Given the description of an element on the screen output the (x, y) to click on. 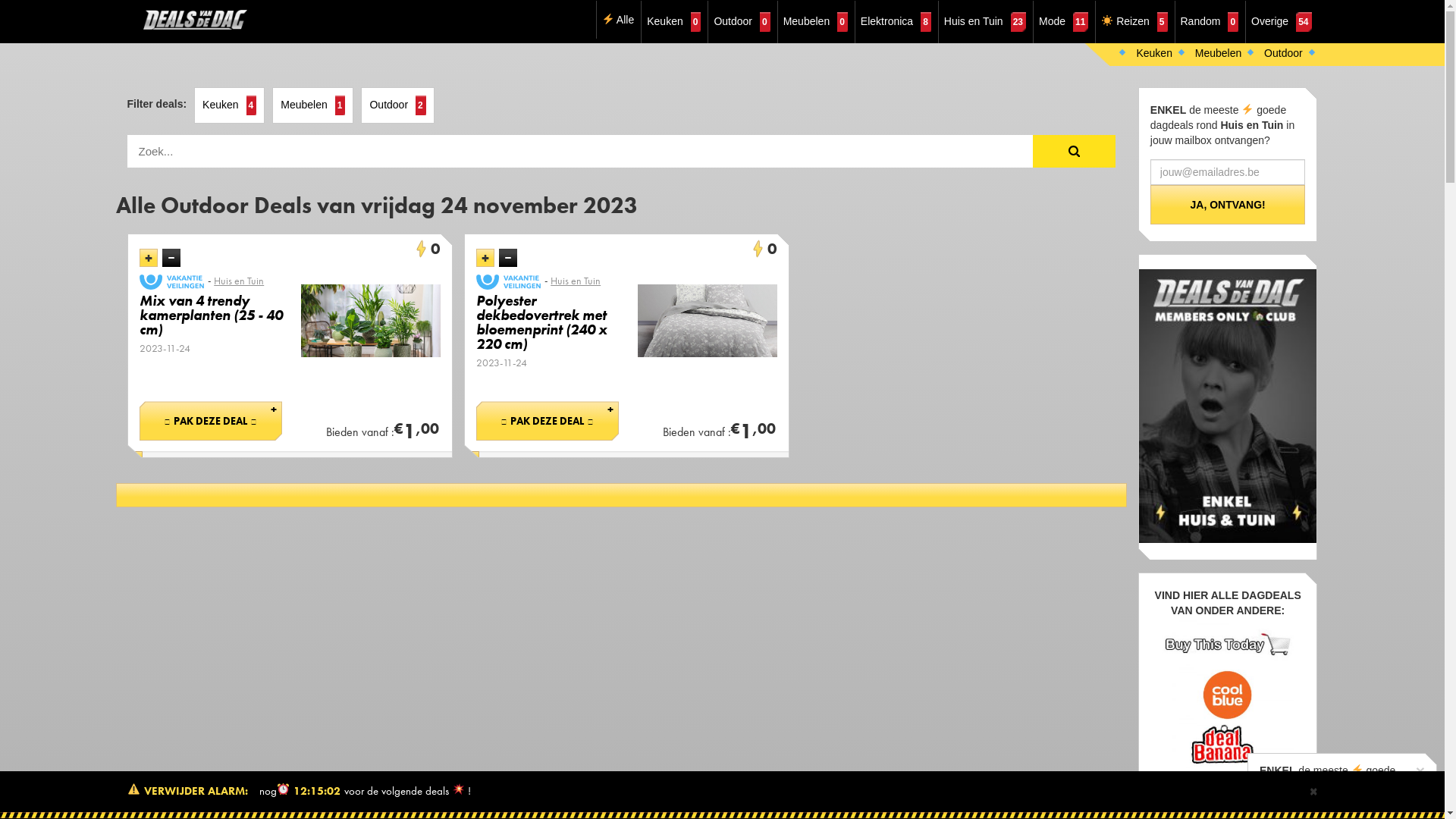
Alle Element type: text (617, 19)
+ Element type: text (485, 257)
Meubelen1 Element type: text (312, 104)
Huis en Tuin Element type: text (573, 280)
Keuken0 Element type: text (673, 21)
Ja, ontvang! Element type: text (1227, 204)
Mix van 4 trendy kamerplanten (25 - 40 cm) Element type: text (214, 314)
Meubelen Element type: text (1225, 53)
Polyester dekbedovertrek met bloemenprint (240 x 220 cm) Element type: text (551, 322)
Meubelen0 Element type: text (815, 21)
Outdoor Element type: text (1290, 53)
Keuken Element type: text (1160, 53)
Random0 Element type: text (1209, 21)
Outdoor0 Element type: text (741, 21)
Keuken4 Element type: text (229, 104)
Huis en Tuin23 Element type: text (984, 21)
Overige54 Element type: text (1280, 21)
Outdoor2 Element type: text (397, 104)
+ Element type: text (148, 257)
Elektronica8 Element type: text (895, 21)
Mode11 Element type: text (1063, 21)
Huis en Tuin Element type: text (236, 280)
Reizen5 Element type: text (1133, 21)
